Given the description of an element on the screen output the (x, y) to click on. 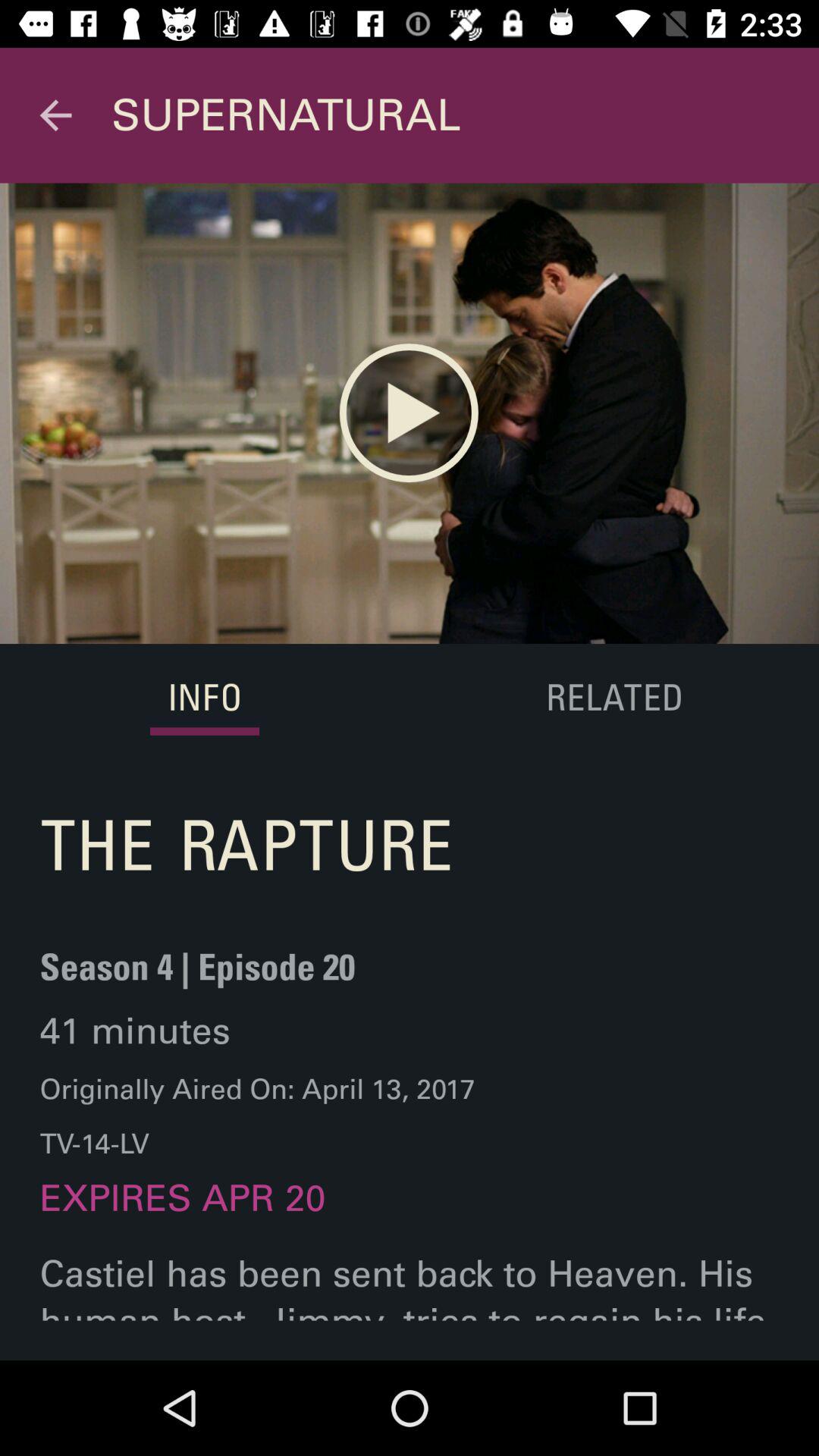
choose castiel has been item (409, 1305)
